Given the description of an element on the screen output the (x, y) to click on. 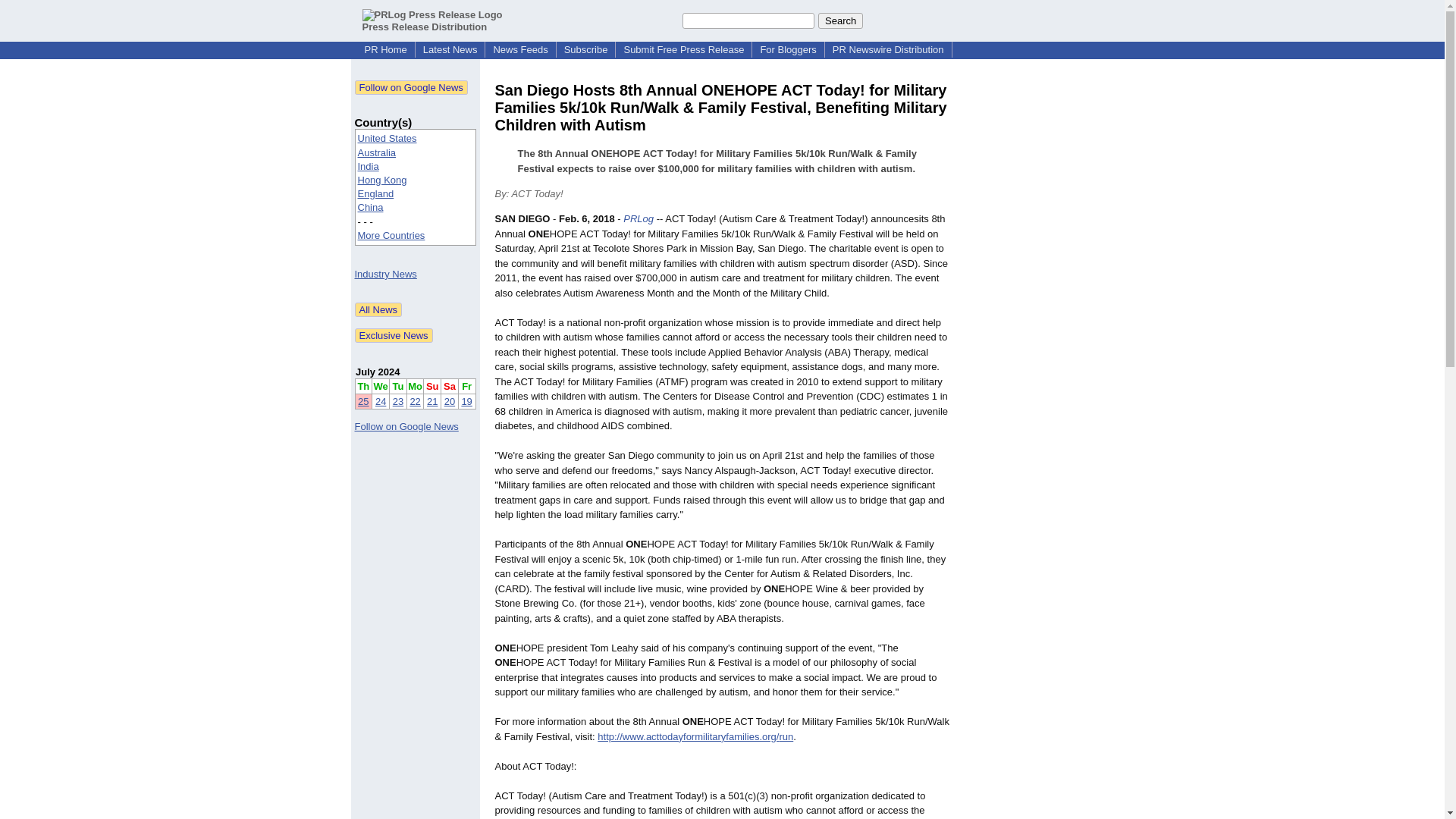
Exclusive News (393, 335)
Industry News (385, 274)
India (368, 165)
Follow on Google News (411, 87)
25 (363, 401)
United States (387, 138)
Exclusive News (393, 335)
Submit Free Press Release (683, 49)
All News (379, 309)
Subscribe (585, 49)
July 2024 (377, 371)
Hong Kong (382, 179)
Search (840, 20)
Search (840, 20)
PR Newswire Distribution (888, 49)
